Given the description of an element on the screen output the (x, y) to click on. 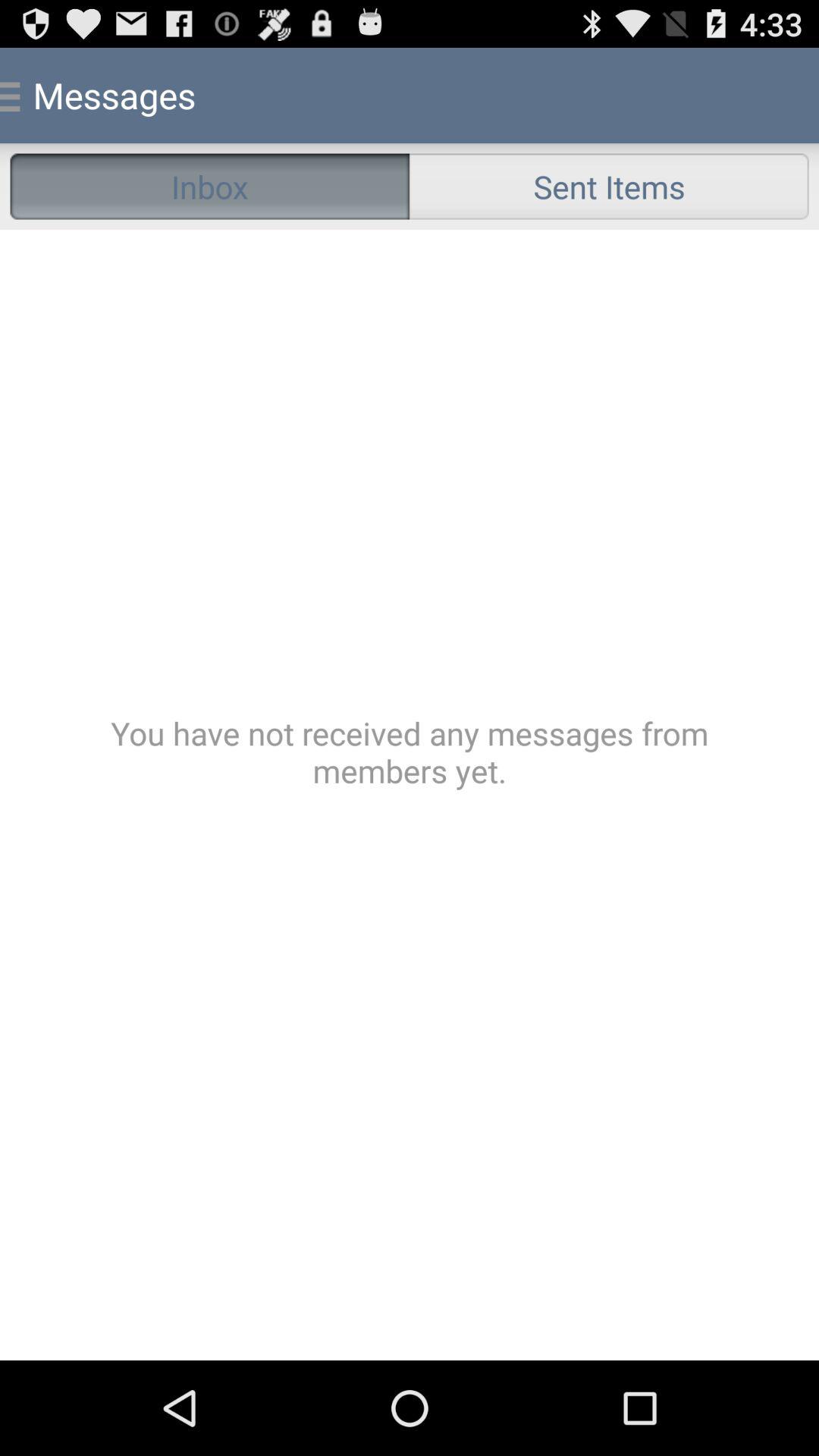
press the inbox (209, 186)
